Given the description of an element on the screen output the (x, y) to click on. 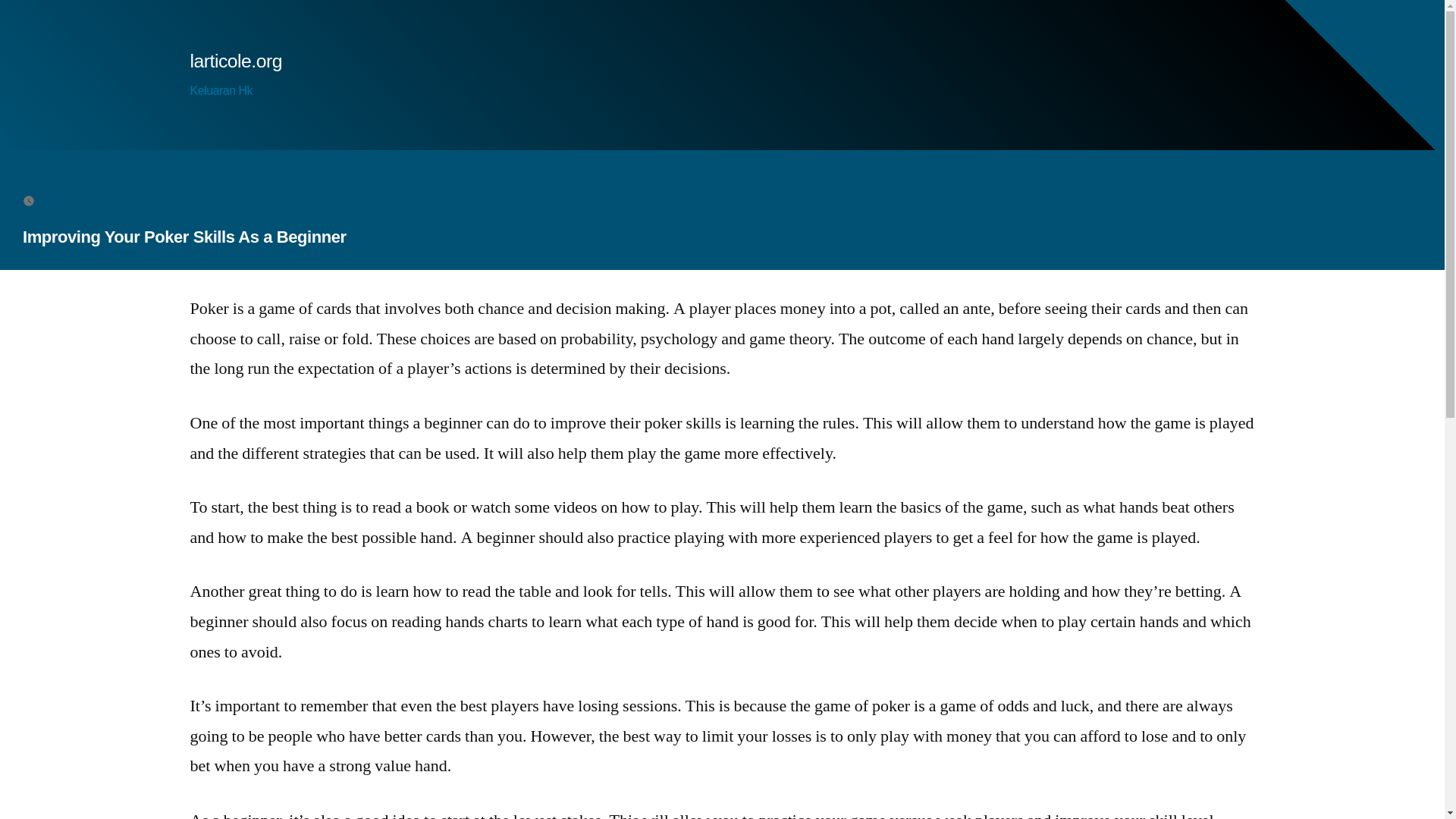
larticole.org (235, 60)
Keluaran Hk (220, 90)
June 21, 2023 (78, 199)
